Given the description of an element on the screen output the (x, y) to click on. 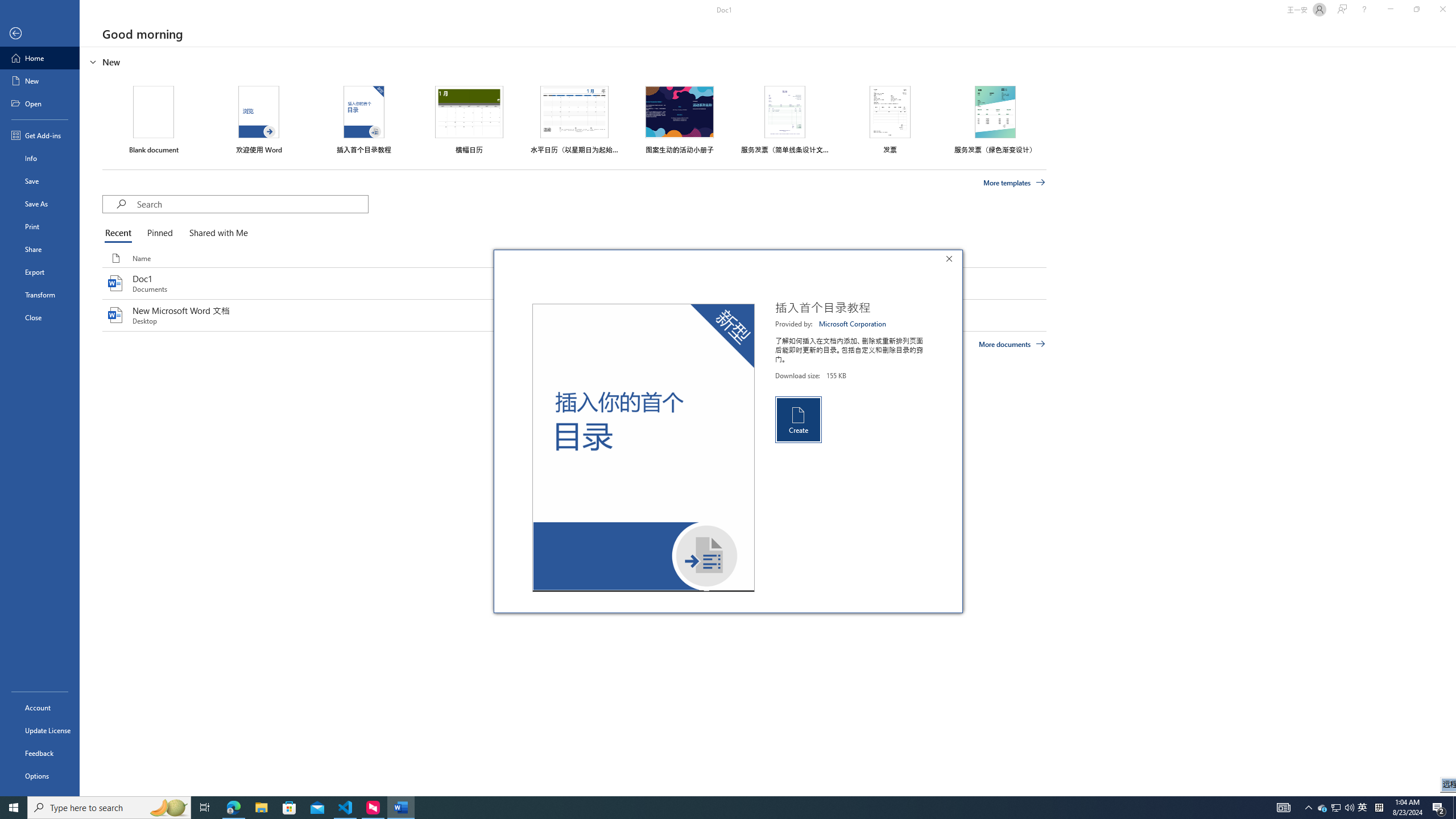
Share (1362, 807)
Feedback (40, 248)
Back (40, 753)
Shared with Me (40, 33)
Tray Input Indicator - Chinese (Simplified, China) (215, 233)
Home (1378, 807)
More templates (40, 57)
Microsoft Store (1014, 182)
